Given the description of an element on the screen output the (x, y) to click on. 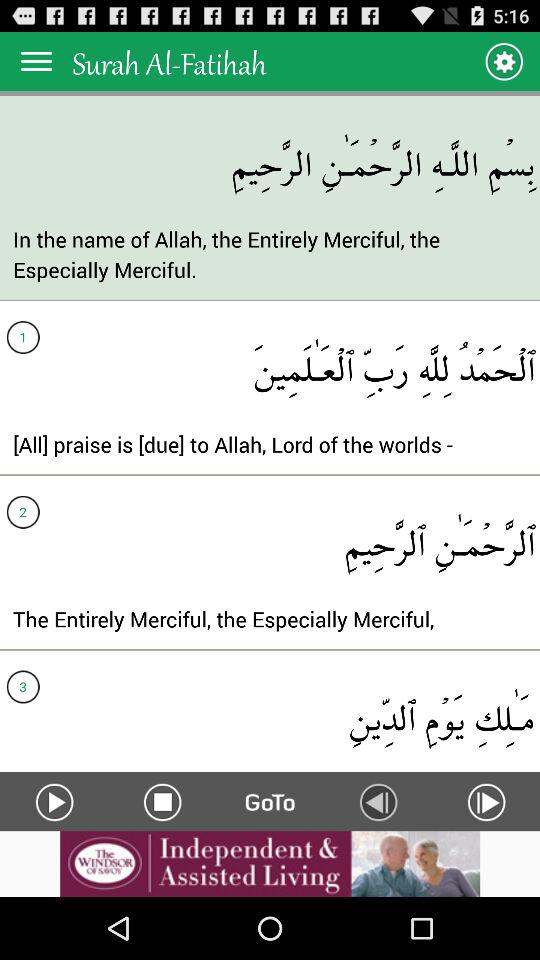
settings link (503, 60)
